Given the description of an element on the screen output the (x, y) to click on. 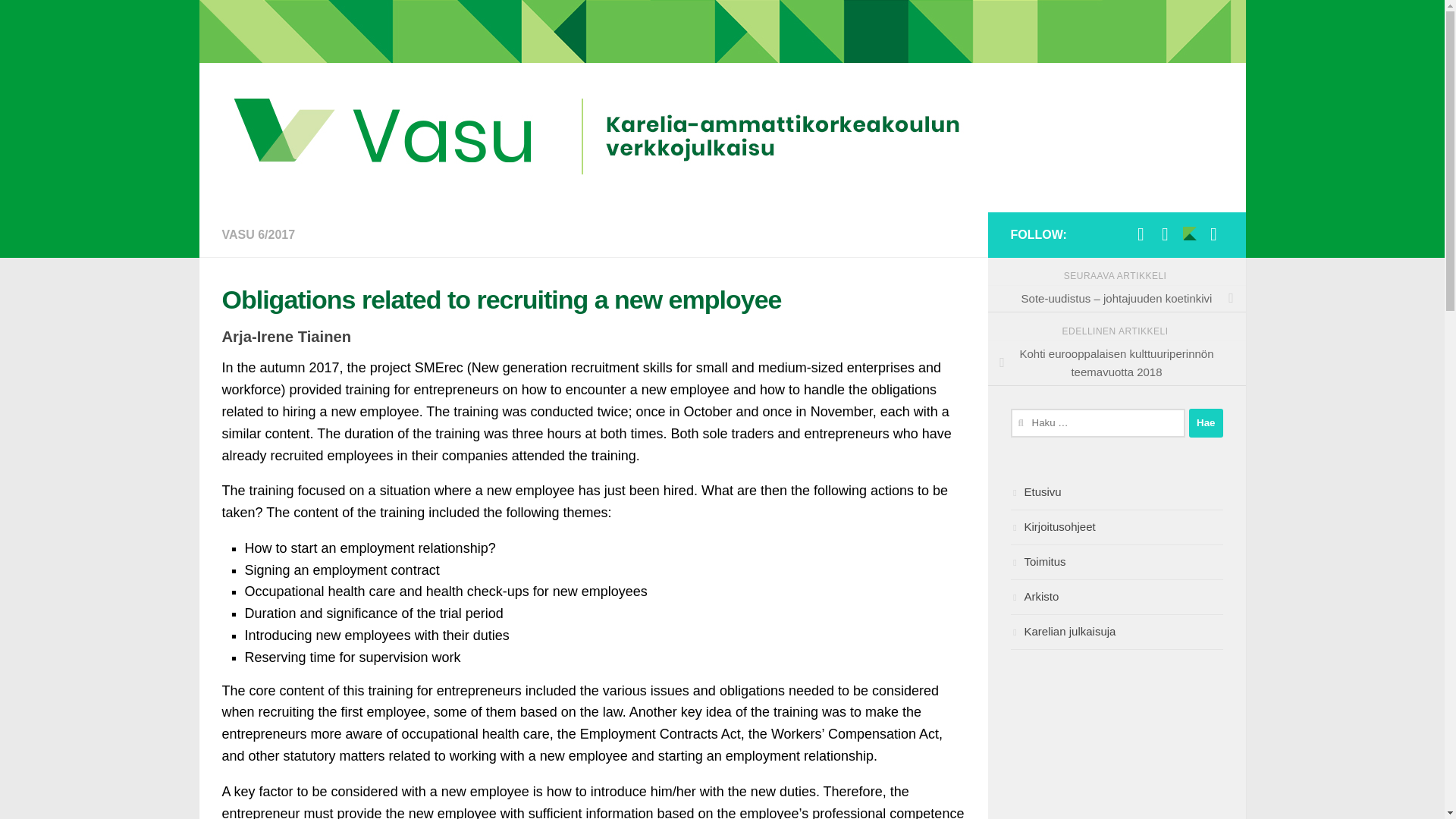
Karelia-amk:n blogit (1213, 234)
Arkisto (1116, 597)
Kirjoitusohjeet (1116, 527)
Karelian julkaisuja (1116, 632)
Hae (1206, 422)
Karelia-amk:n verkkosivusto (1188, 234)
Hae (1206, 422)
Hae (1206, 422)
Etusivu (1116, 492)
Toimitus (1116, 562)
